Given the description of an element on the screen output the (x, y) to click on. 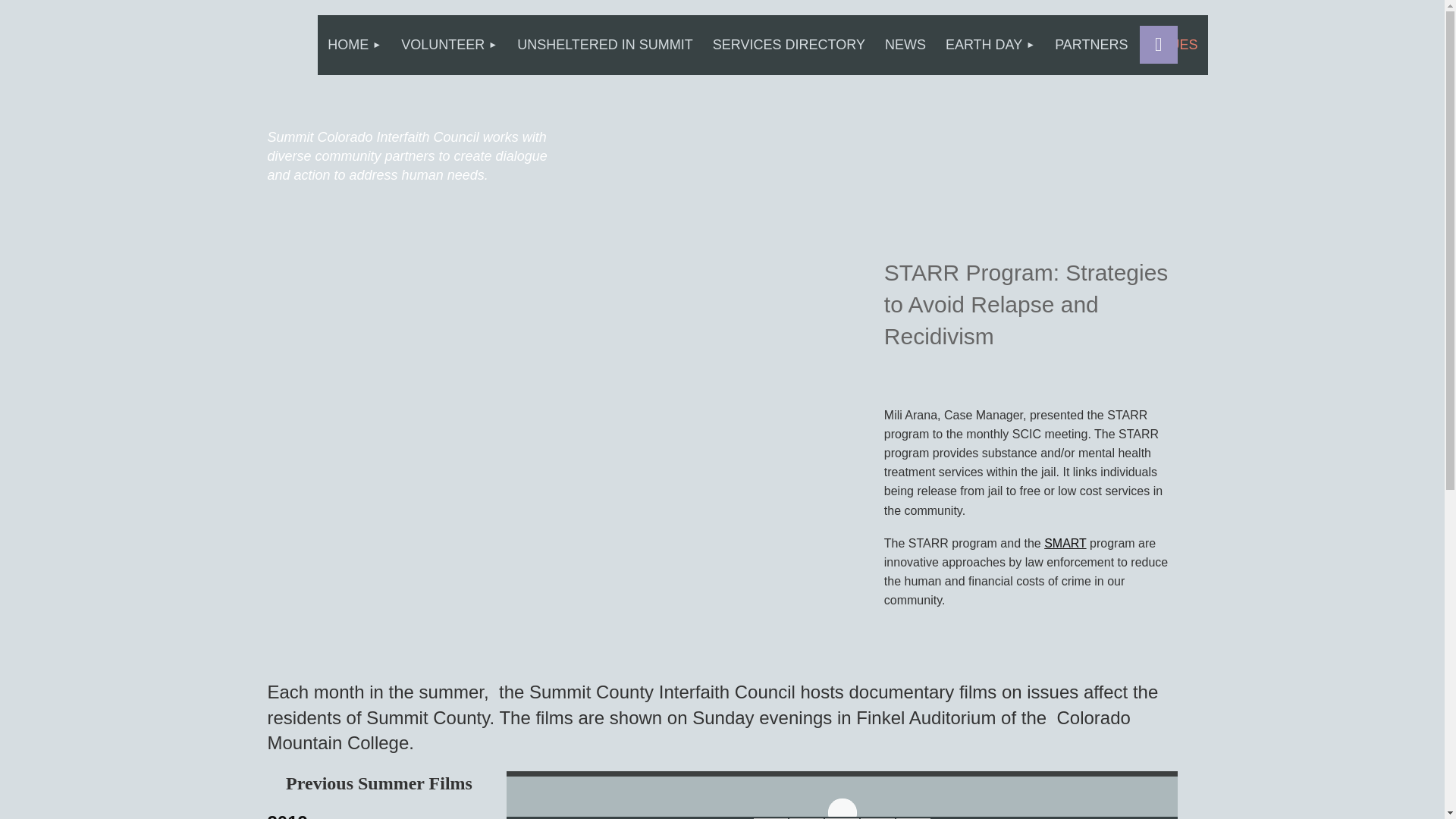
VOLUNTEER (448, 45)
Home (354, 45)
SMART (1064, 543)
Log in (1157, 44)
SERVICES DIRECTORY (789, 45)
PARTNERS (1091, 45)
Volunteer (448, 45)
EARTH DAY (990, 45)
ISSUES (1173, 45)
HOME (354, 45)
NEWS (905, 45)
UNSHELTERED IN SUMMIT (604, 45)
2019 (286, 815)
